Given the description of an element on the screen output the (x, y) to click on. 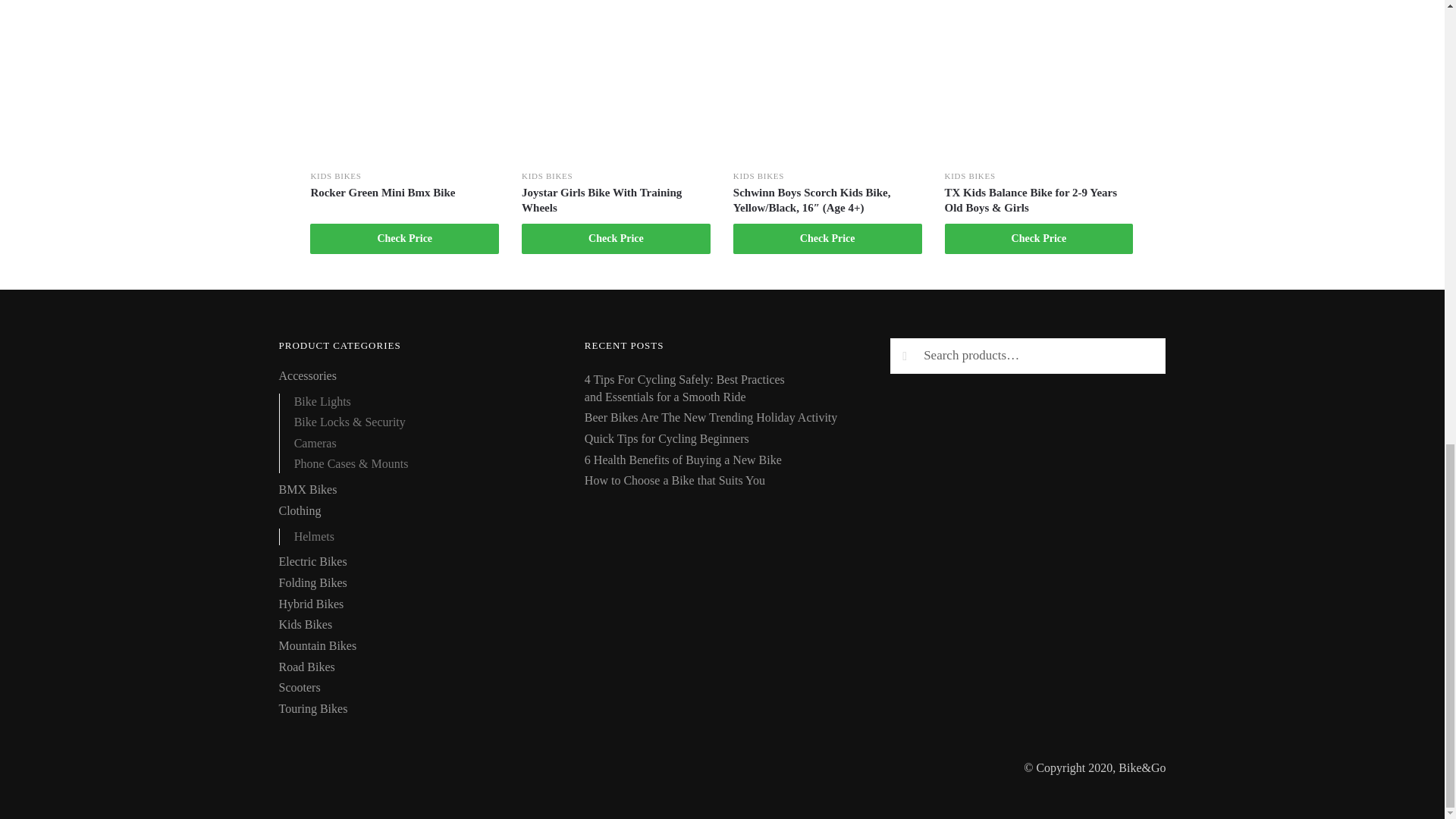
Check Price (615, 238)
Joystar Girls Bike With Training Wheels (615, 79)
KIDS BIKES (335, 175)
Check Price (404, 238)
Rocker Green Mini Bmx Bike (404, 192)
Joystar Girls Bike With Training Wheels (615, 200)
Rocker Green Mini Bmx Bike (404, 79)
Rocker Green Mini Bmx Bike (404, 192)
Joystar Girls Bike With Training Wheels (615, 200)
KIDS BIKES (546, 175)
